Given the description of an element on the screen output the (x, y) to click on. 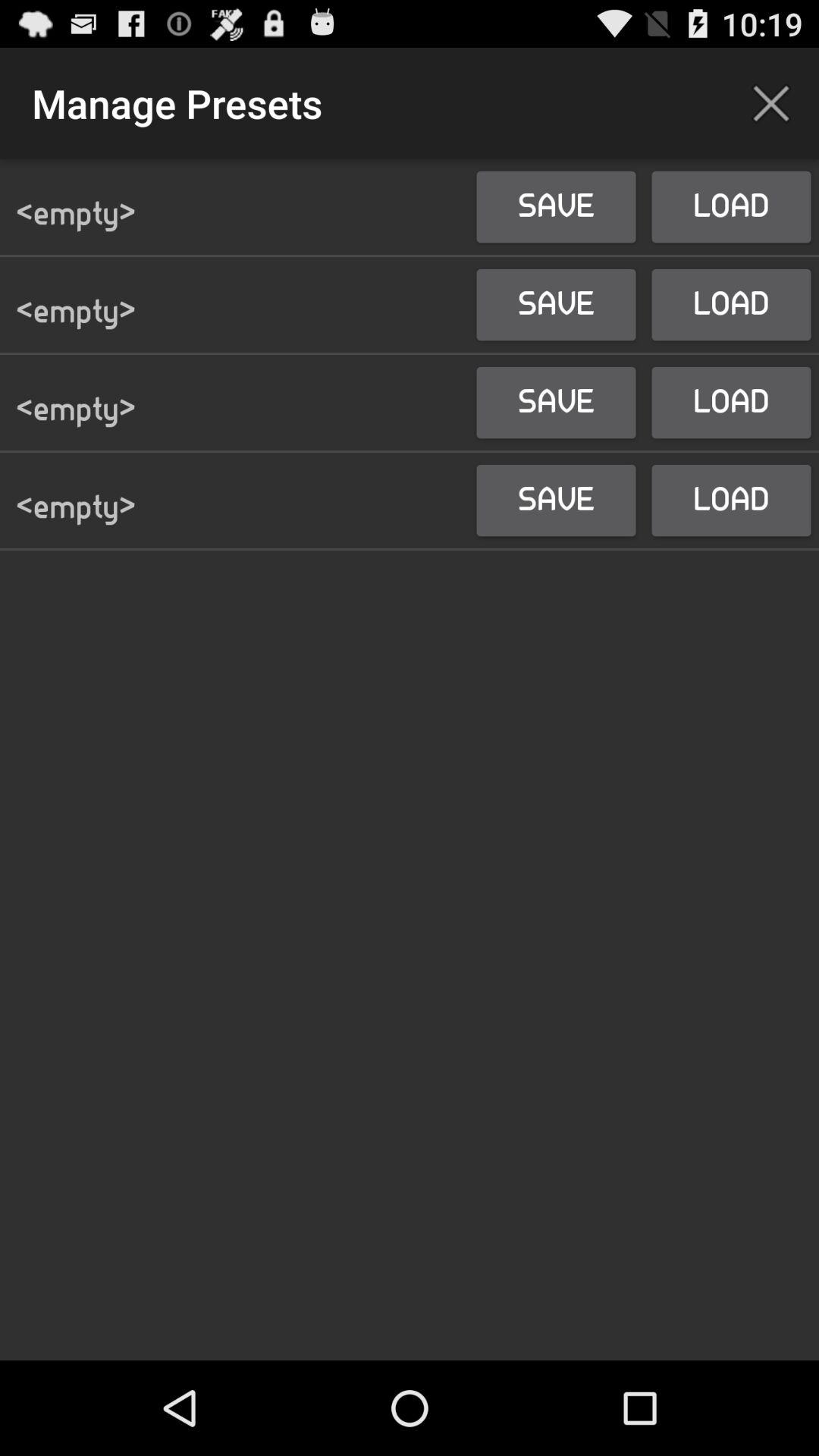
turn off the icon to the right of the save button (771, 103)
